Given the description of an element on the screen output the (x, y) to click on. 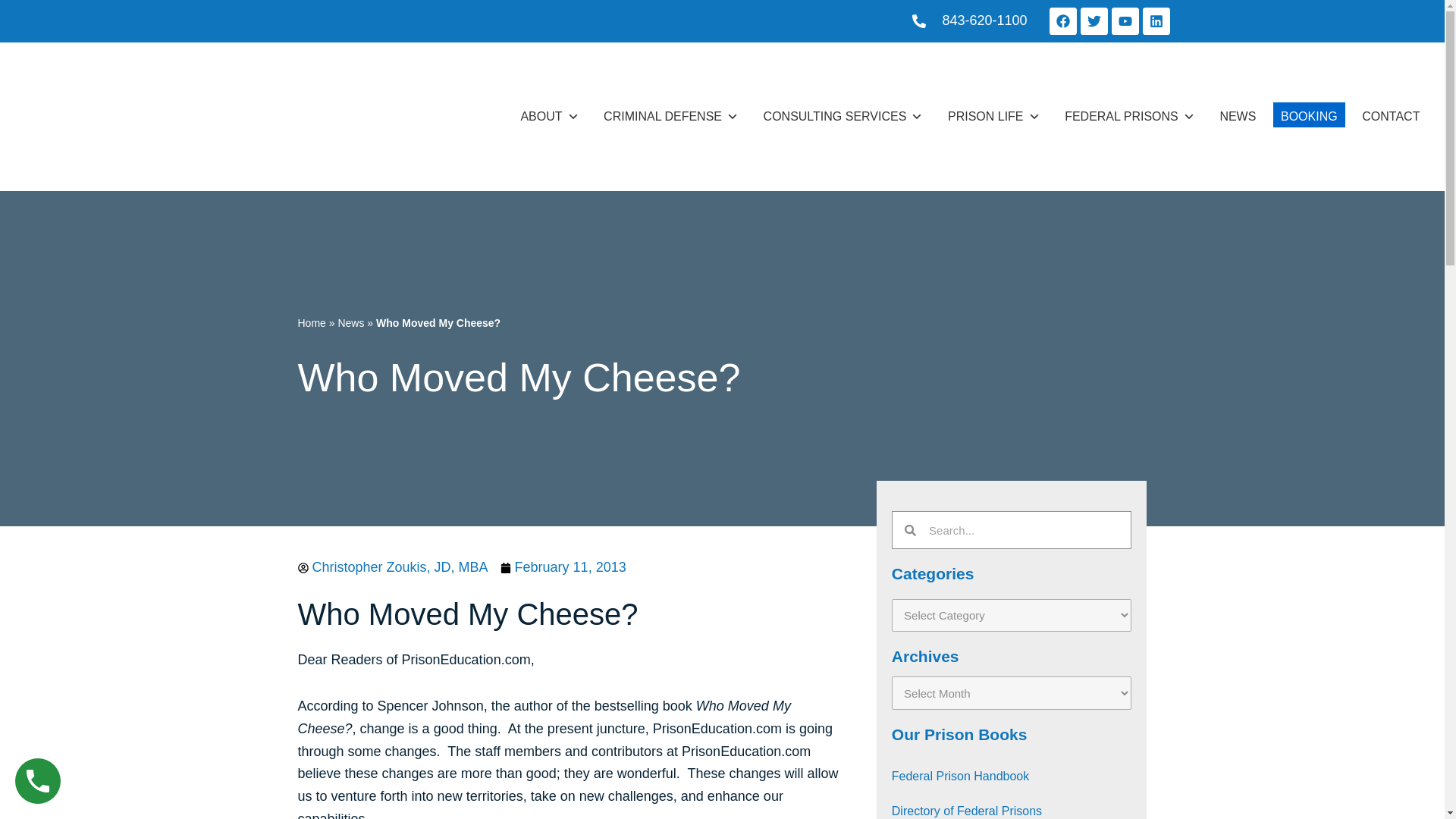
CRIMINAL DEFENSE (670, 116)
843-620-1100 (969, 20)
Facebook (1063, 21)
Twitter (1093, 21)
Youtube (1125, 21)
PRISON LIFE (994, 116)
ABOUT (549, 116)
CONSULTING SERVICES (843, 116)
Linkedin (1155, 21)
